Given the description of an element on the screen output the (x, y) to click on. 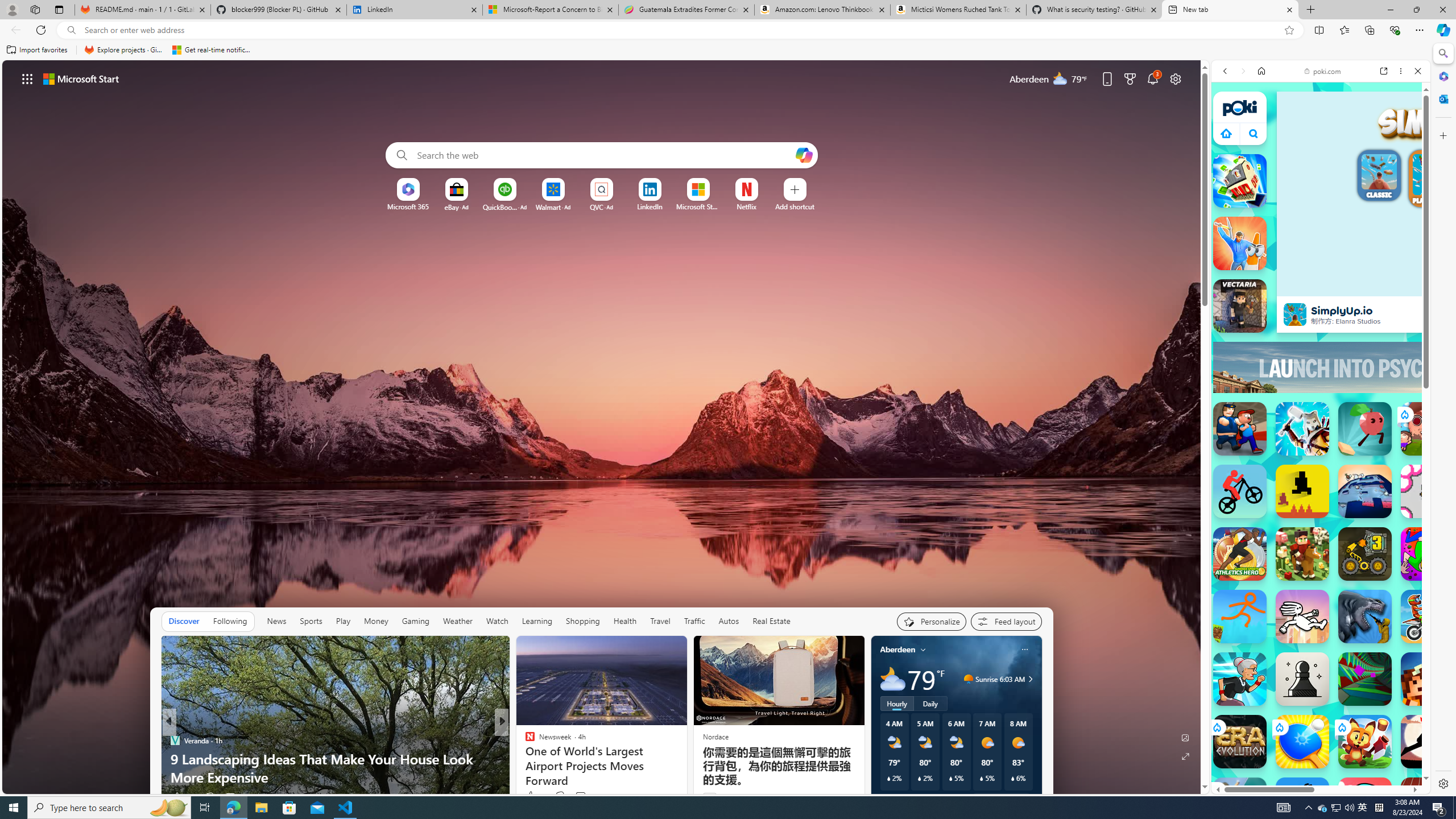
Aberdeen (897, 649)
Page settings (1175, 78)
19 Like (534, 795)
Show More Two Player Games (1390, 343)
Stickman Parkour Skyland Stickman Parkour Skyland (1239, 615)
215 Like (532, 796)
Stickman Parkour Skyland (1239, 615)
AutomationID: backgroundImagePicture (601, 426)
View comments 52 Comment (234, 796)
